Given the description of an element on the screen output the (x, y) to click on. 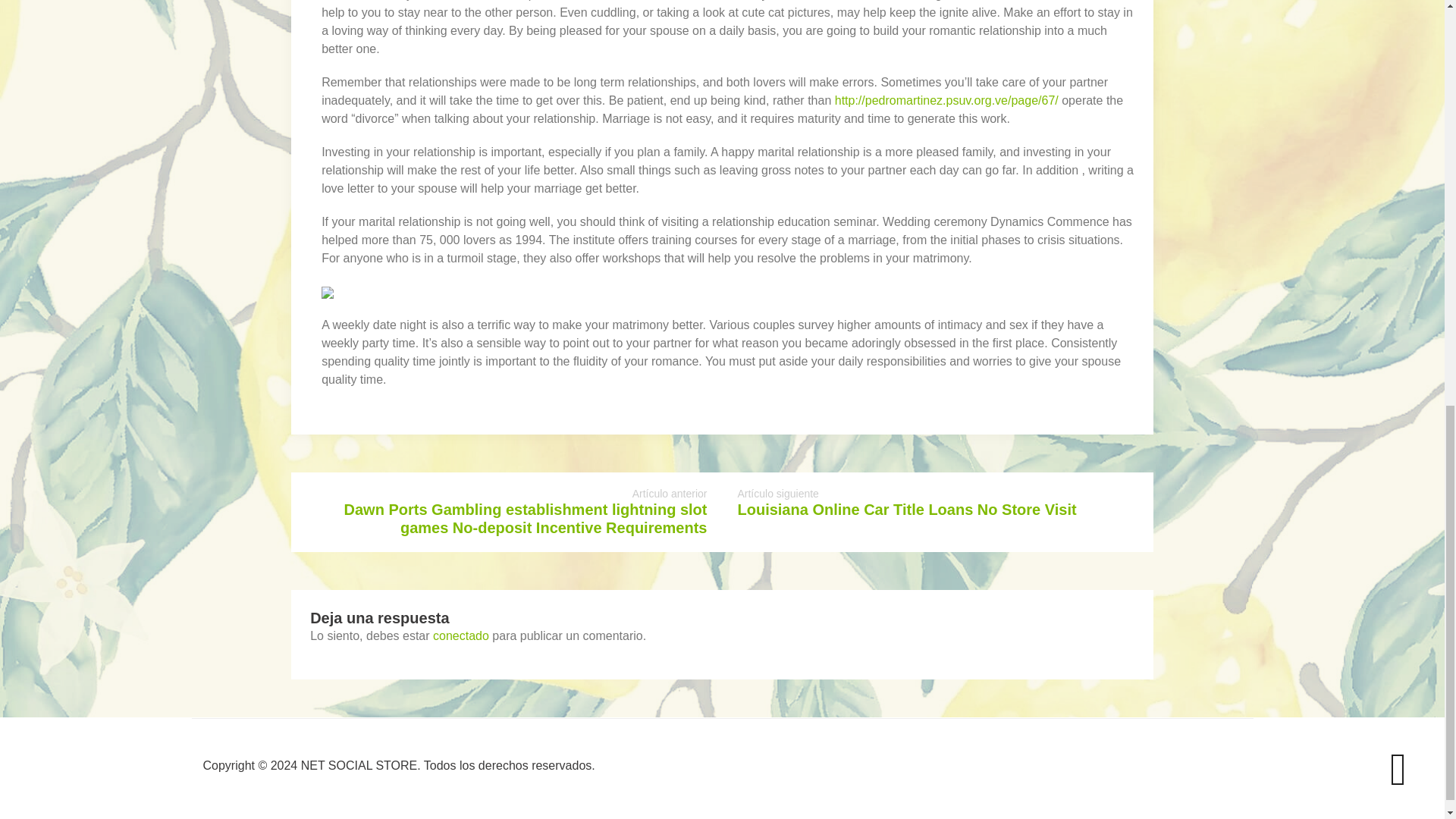
Louisiana Online Car Title Loans No Store Visit (905, 509)
conectado (460, 635)
